Given the description of an element on the screen output the (x, y) to click on. 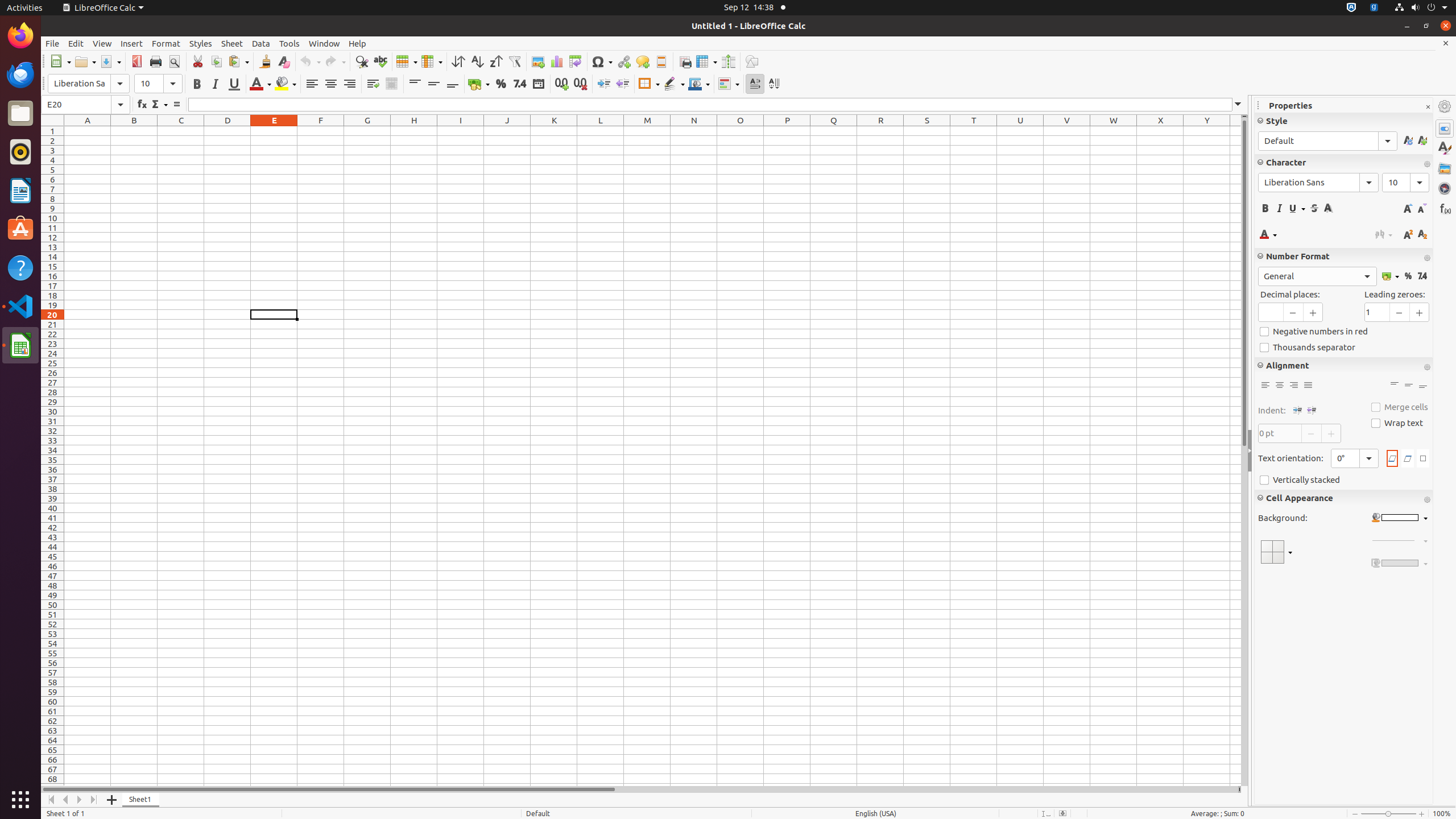
R1 Element type: table-cell (880, 130)
X1 Element type: table-cell (1159, 130)
Border Style Element type: push-button (673, 83)
Clear Element type: push-button (283, 61)
Align Left Element type: toggle-button (1265, 385)
